Given the description of an element on the screen output the (x, y) to click on. 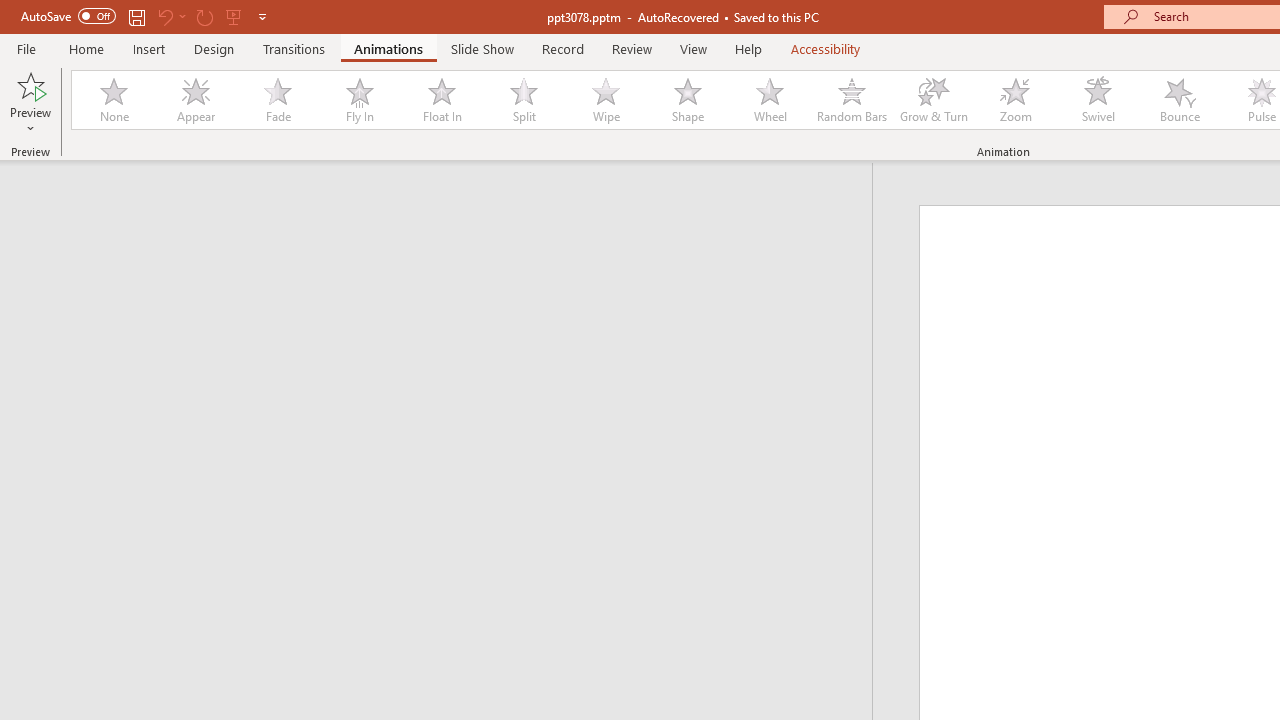
None (113, 100)
System (10, 11)
Animations (388, 48)
Appear (195, 100)
Fly In (359, 100)
View (693, 48)
Quick Access Toolbar (145, 16)
Help (748, 48)
File Tab (26, 48)
Zoom (1016, 100)
Accessibility (825, 48)
